Given the description of an element on the screen output the (x, y) to click on. 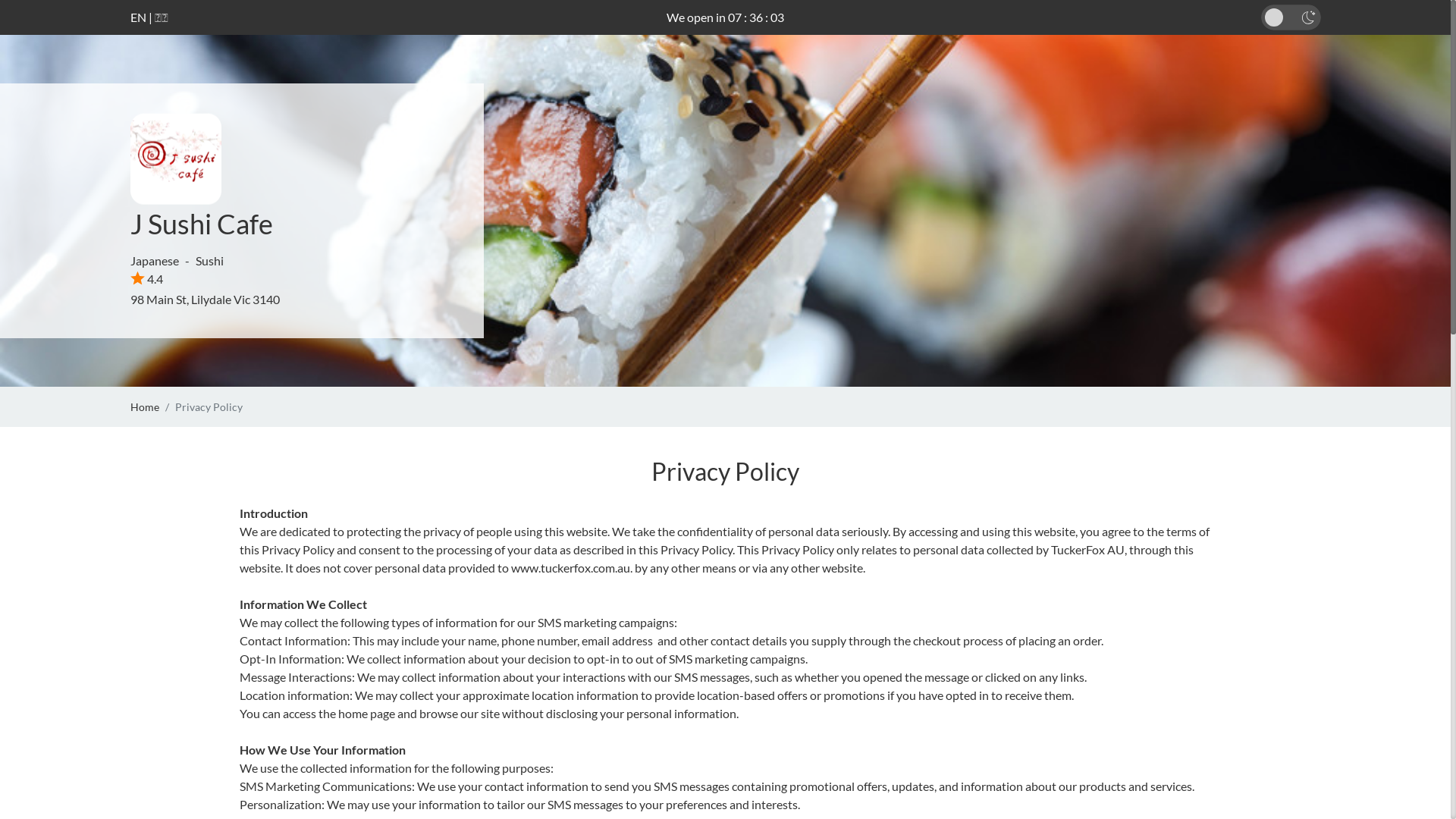
4.4 Element type: text (146, 278)
Home Element type: text (144, 406)
EN Element type: text (138, 16)
J Sushi Cafe Element type: text (201, 223)
